Given the description of an element on the screen output the (x, y) to click on. 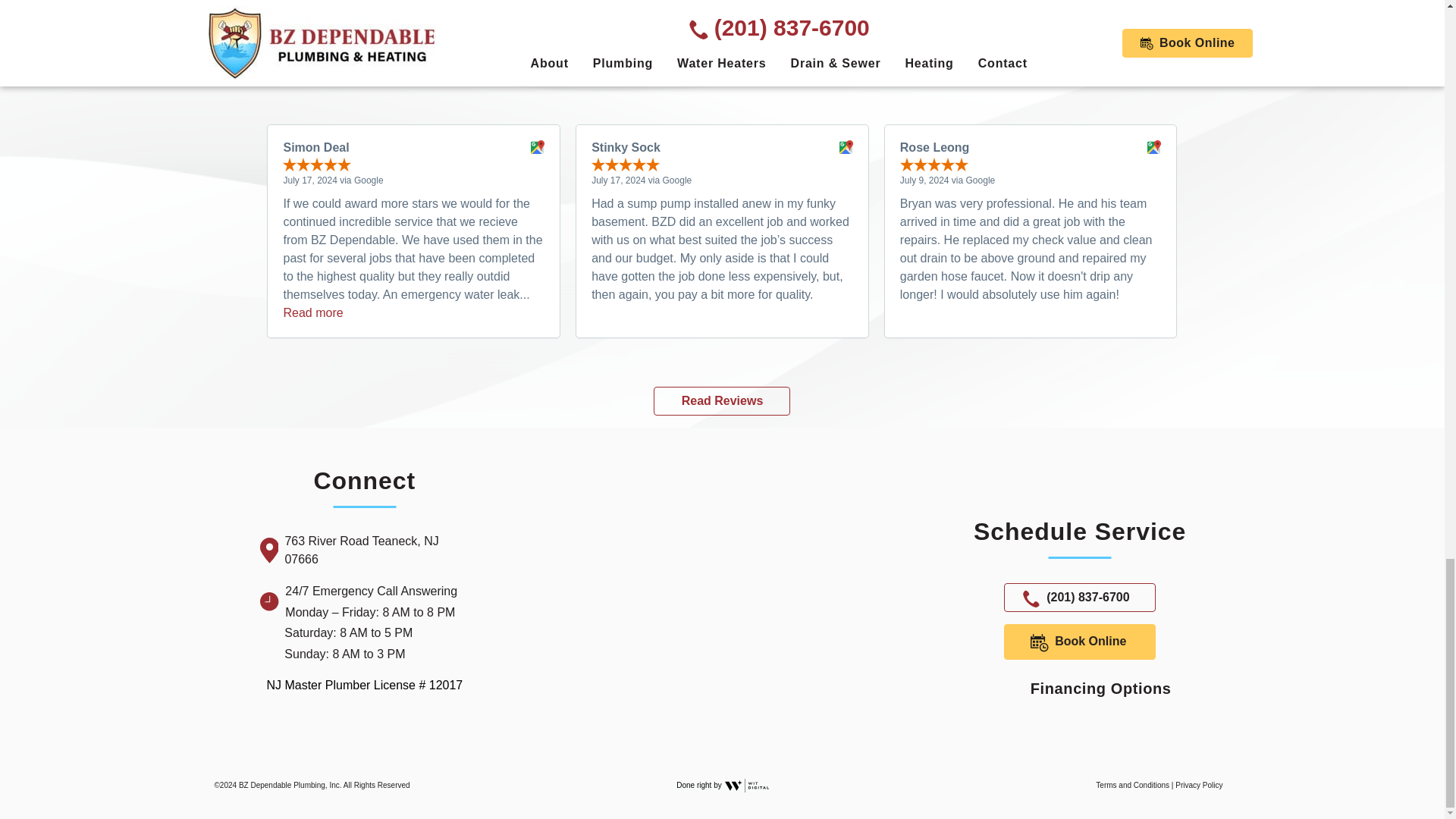
Facebook (341, 726)
Google  (387, 726)
